Given the description of an element on the screen output the (x, y) to click on. 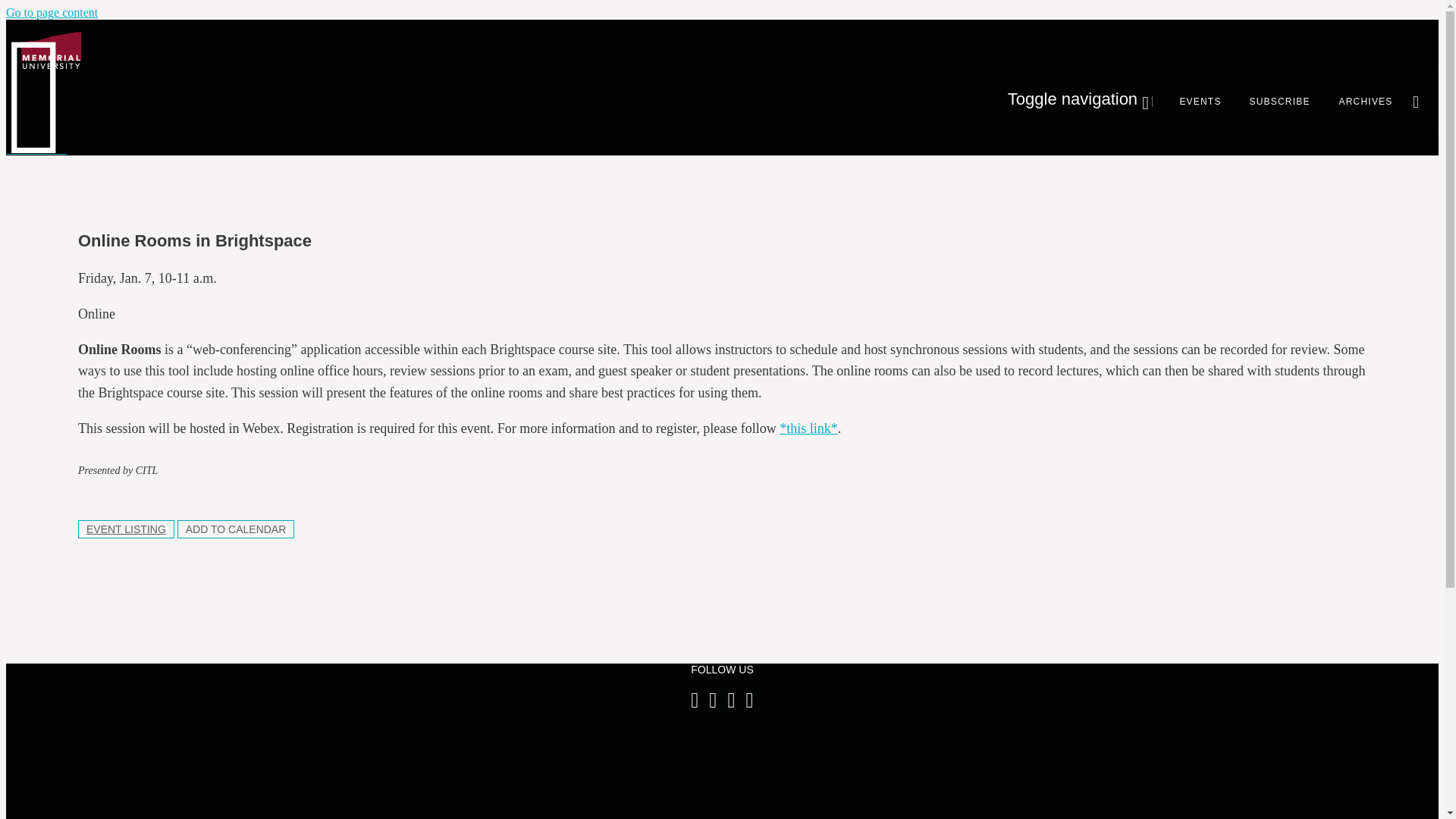
Toggle navigation (1077, 98)
EVENTS (1186, 98)
EVENT LISTING (126, 529)
SUBSCRIBE (1267, 98)
Go to page content (51, 11)
ARCHIVES (1353, 98)
ADD TO CALENDAR (236, 529)
